Given the description of an element on the screen output the (x, y) to click on. 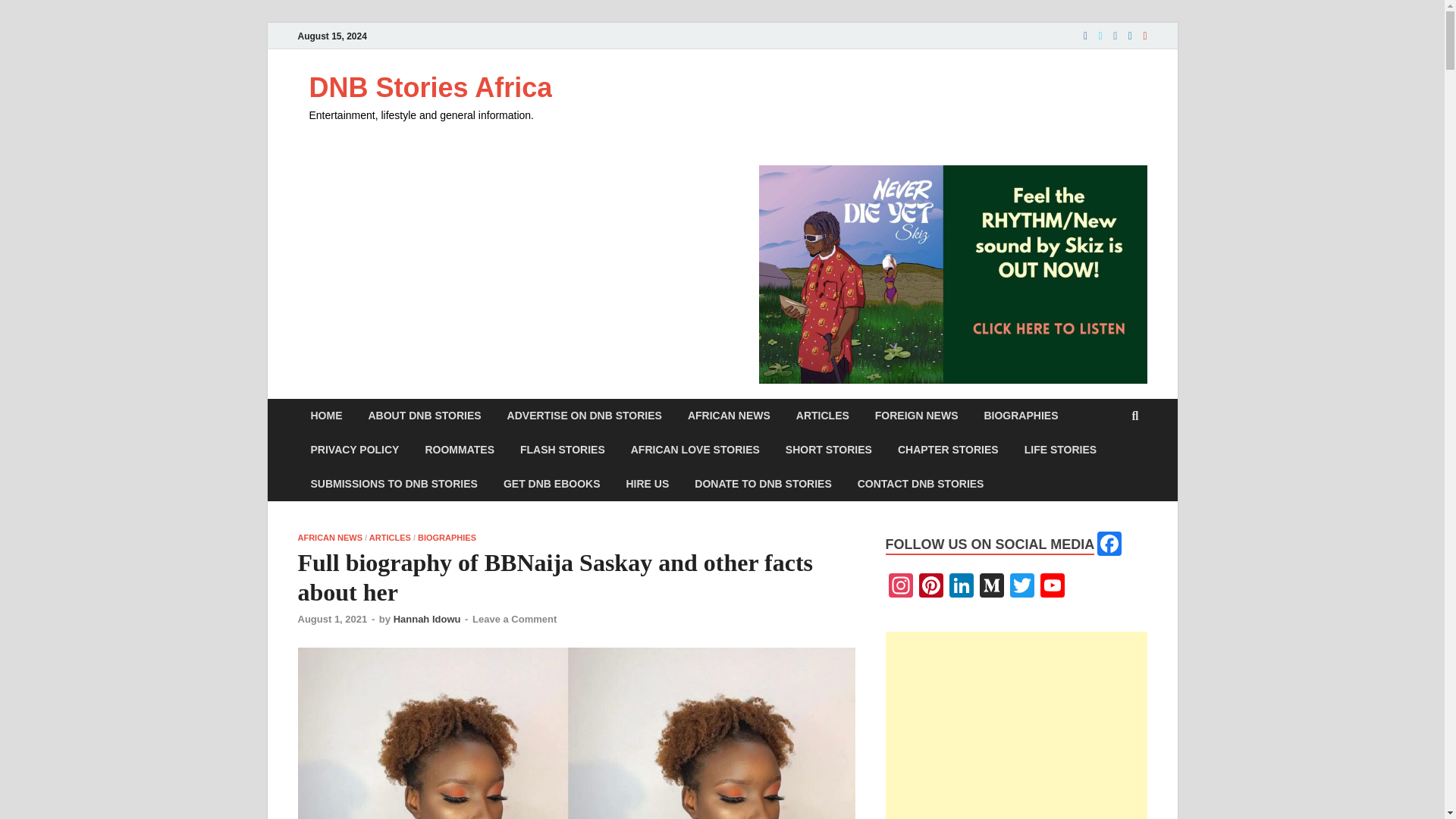
FLASH STORIES (561, 449)
LIFE STORIES (1060, 449)
August 1, 2021 (331, 618)
ARTICLES (822, 415)
FOREIGN NEWS (916, 415)
DNB Stories Africa (430, 87)
SHORT STORIES (829, 449)
PRIVACY POLICY (354, 449)
AFRICAN NEWS (729, 415)
AFRICAN NEWS (329, 537)
